Given the description of an element on the screen output the (x, y) to click on. 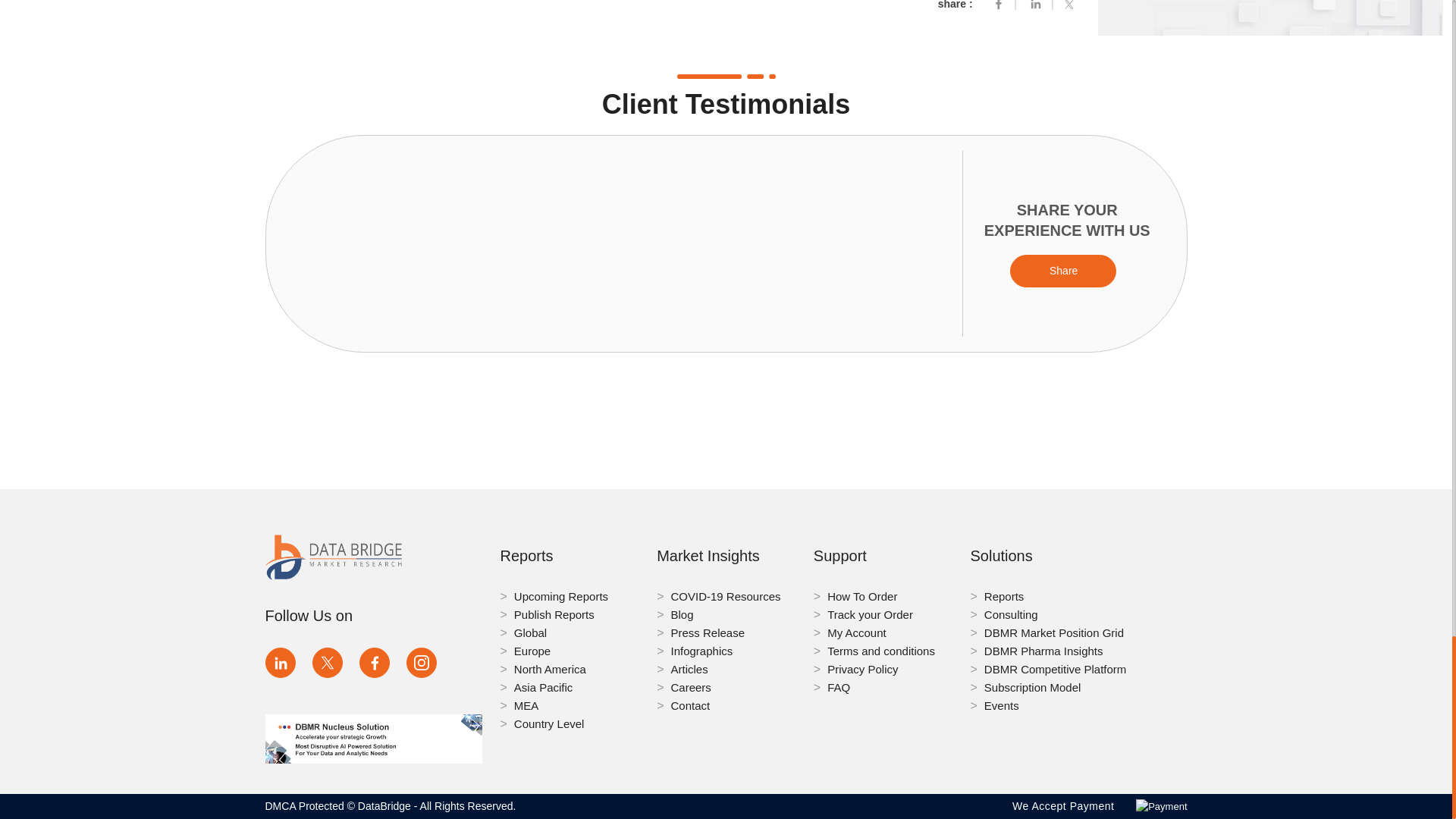
Facebook (374, 662)
Facebook (998, 4)
Twitter (1072, 4)
LinkedIn (279, 662)
LinkIn (1035, 4)
Instagram (421, 662)
Twitter (327, 662)
